Given the description of an element on the screen output the (x, y) to click on. 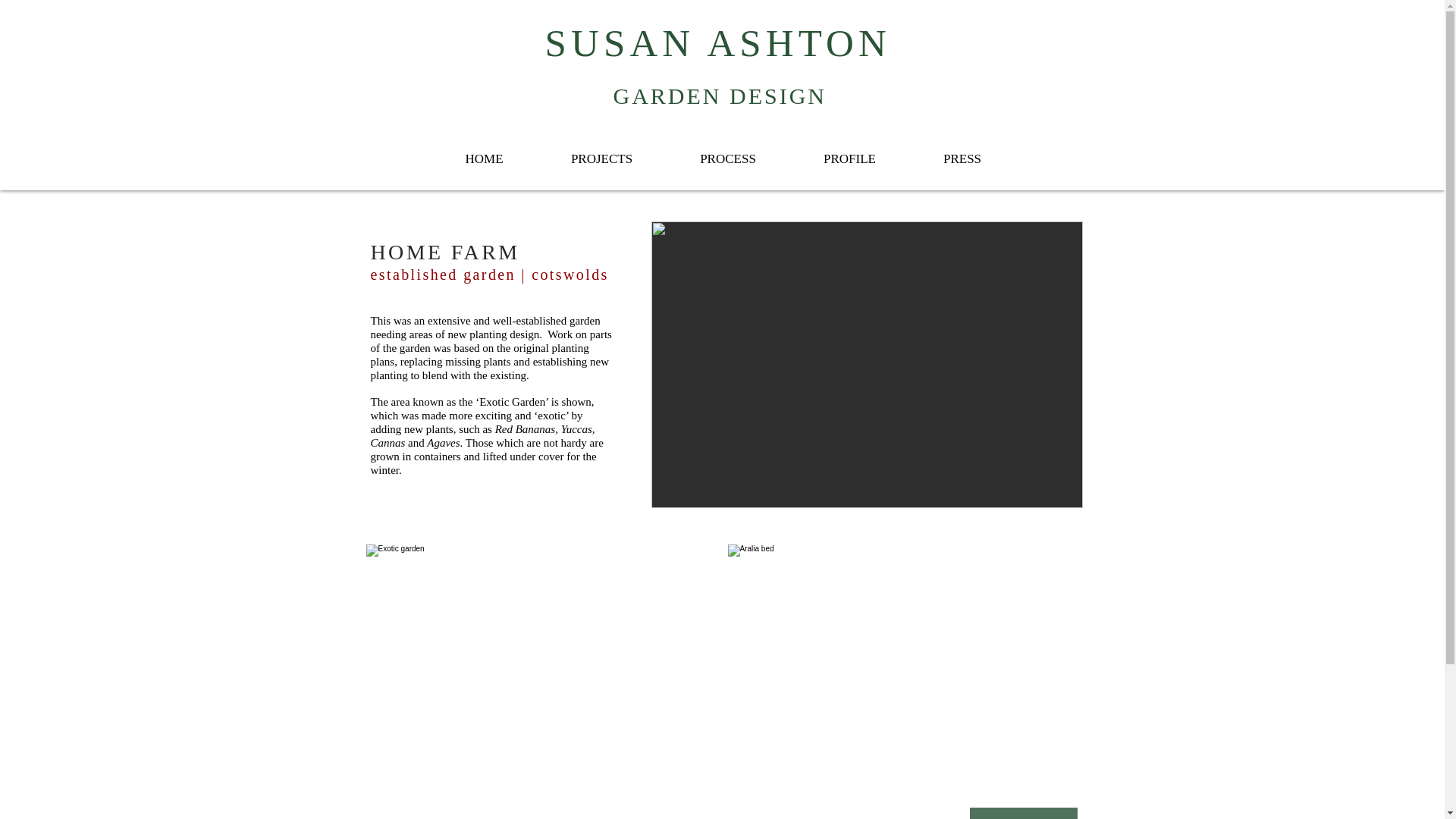
PROJECTS (601, 158)
PROCESS (727, 158)
PROFILE (850, 158)
View Projects (1023, 813)
HOME (483, 158)
PRESS (962, 158)
